Given the description of an element on the screen output the (x, y) to click on. 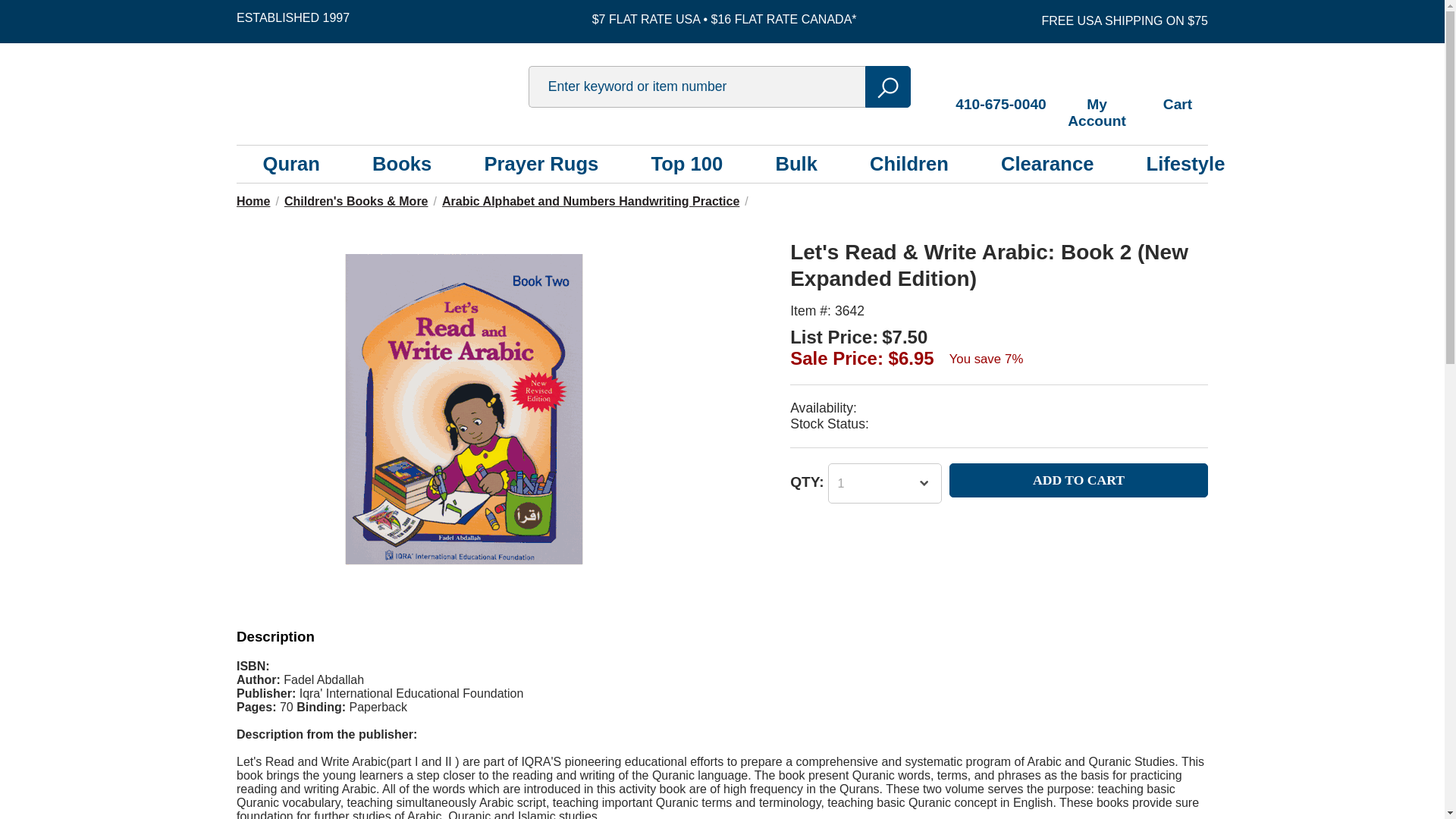
Add To Cart (1078, 480)
Lifestyle (1186, 164)
Home (252, 201)
Bulk (795, 164)
My Account (1096, 95)
410-675-0040 (1000, 87)
Children (909, 164)
Add To Cart (1078, 480)
Quran (291, 164)
islamicbookstore.com (376, 86)
